Given the description of an element on the screen output the (x, y) to click on. 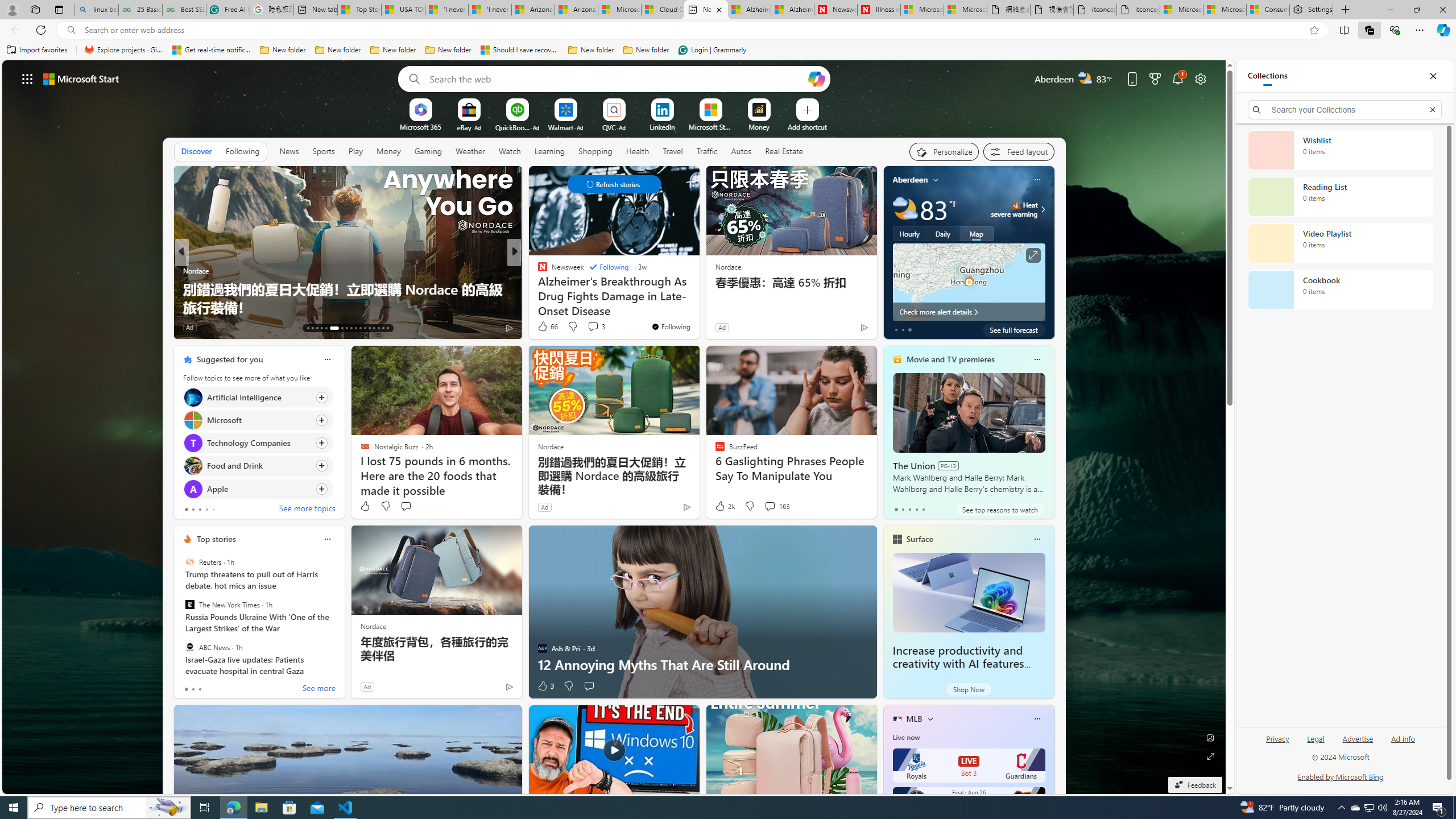
See more topics (306, 509)
View comments 2 Comment (589, 327)
Search your Collections (1345, 109)
Reading List collection, 0 items (1339, 196)
AutomationID: tab-21 (350, 328)
68 Like (543, 327)
AutomationID: tab-23 (360, 328)
AutomationID: tab-16 (321, 328)
Top stories (215, 538)
